Given the description of an element on the screen output the (x, y) to click on. 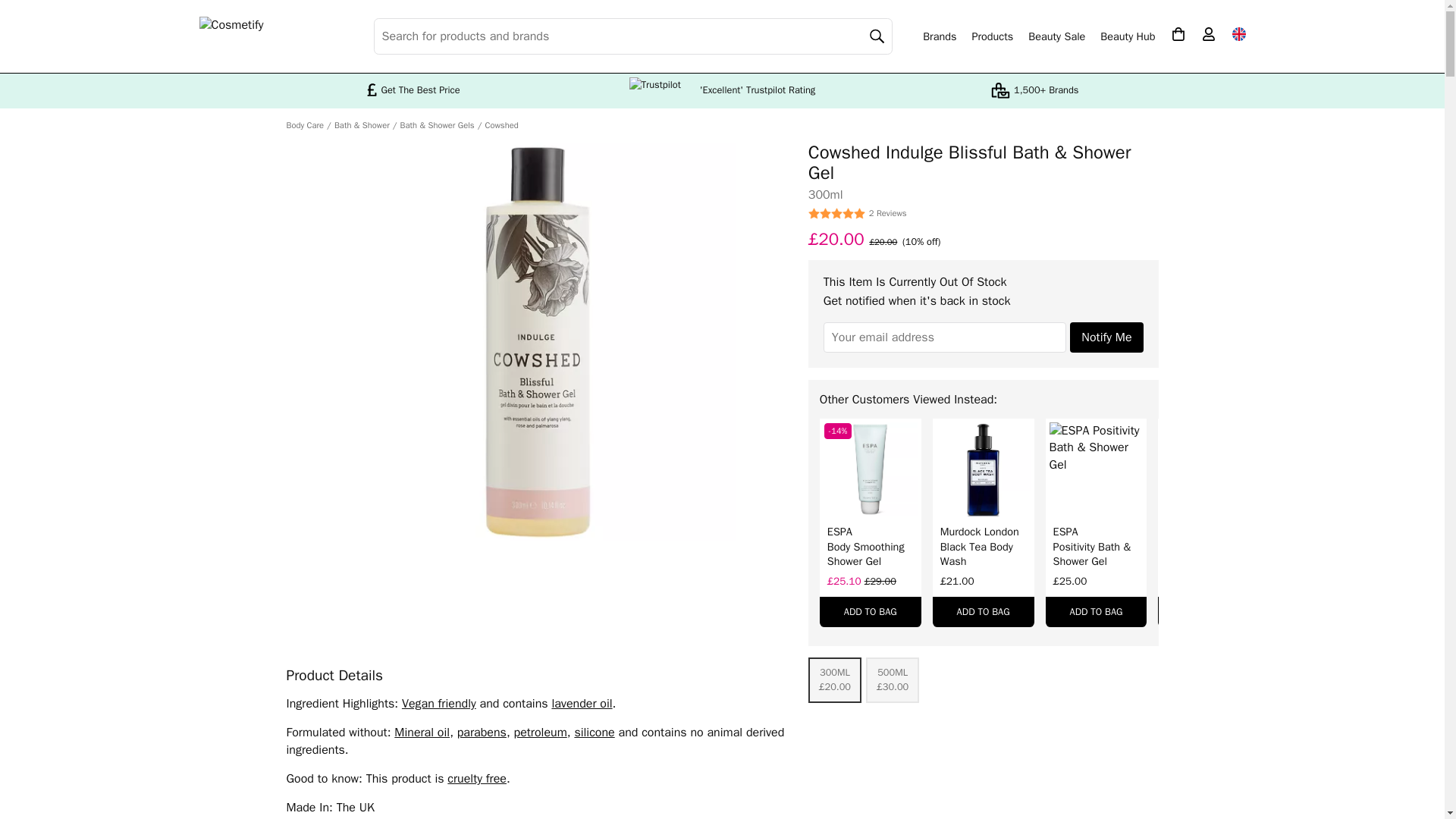
Beauty Hub (1127, 36)
Brands (939, 36)
Beauty Sale (1055, 36)
Products (992, 36)
